Given the description of an element on the screen output the (x, y) to click on. 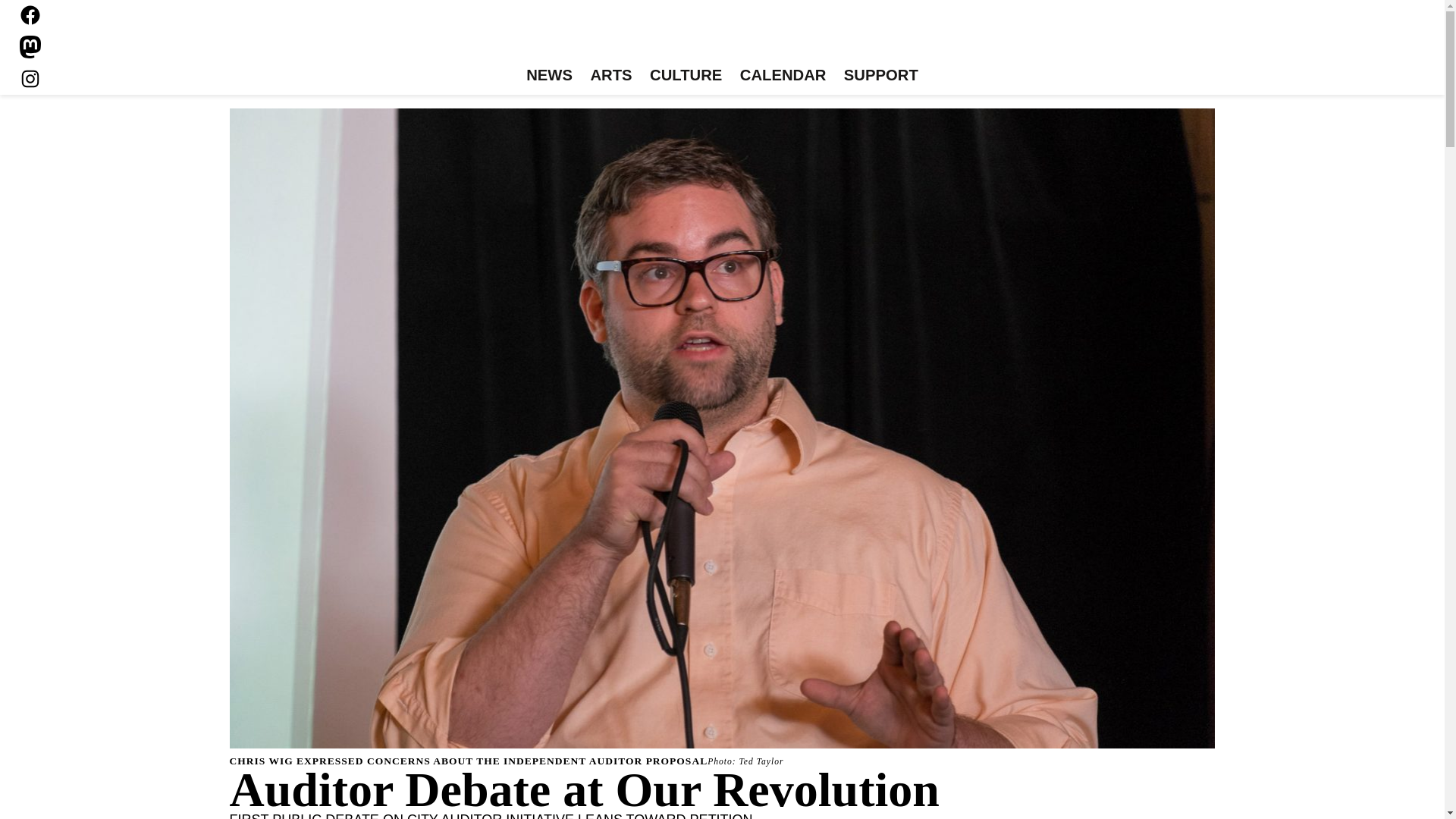
Facebook (30, 15)
CULTURE (685, 75)
Eugene Weekly (721, 37)
ARTS (611, 75)
CALENDAR (782, 75)
SUPPORT (880, 75)
Mastodon (30, 47)
Instagram (30, 78)
NEWS (548, 75)
